Given the description of an element on the screen output the (x, y) to click on. 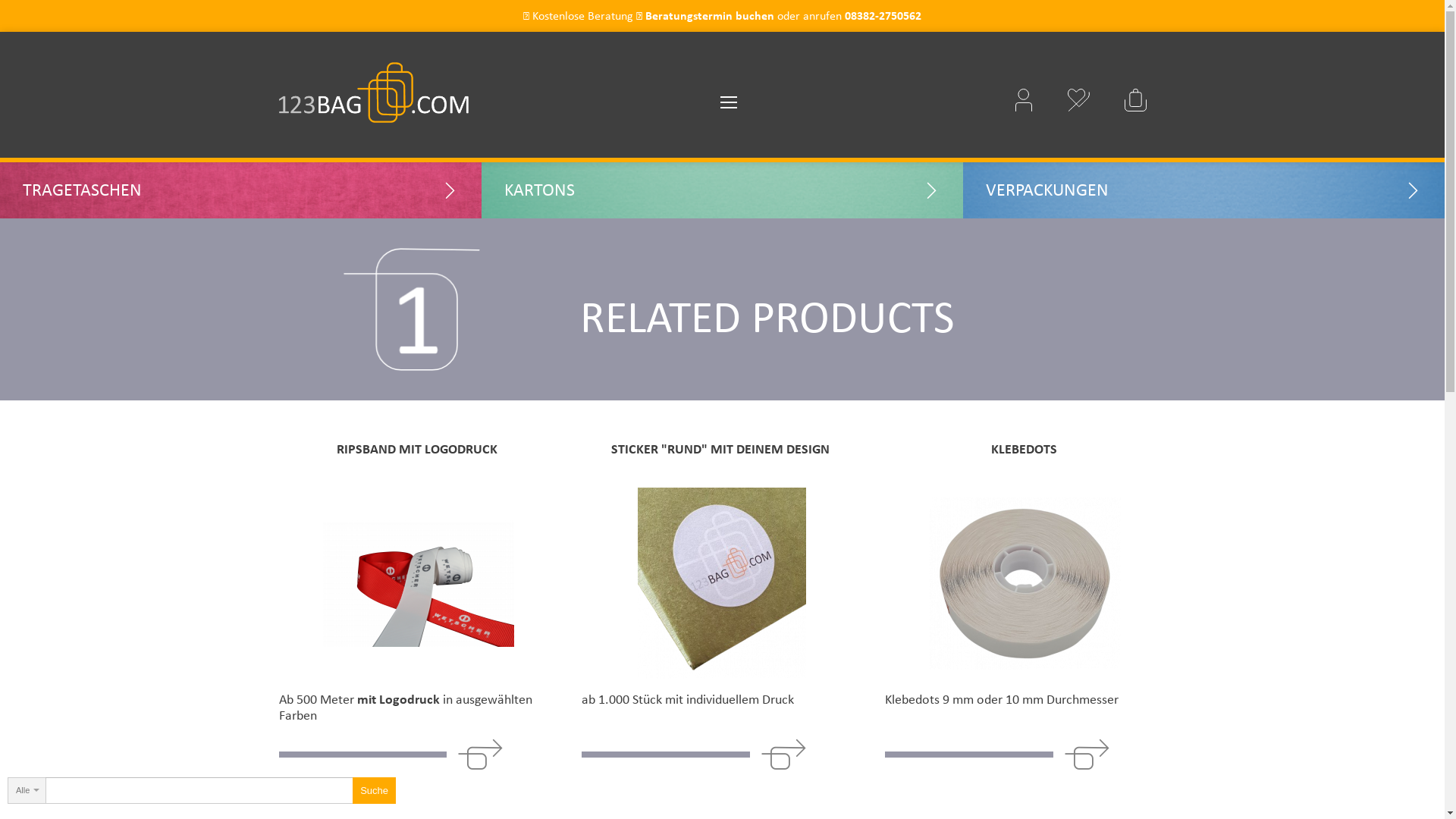
Klebedots Element type: hover (1024, 582)
Ripsband mit Logodruck Element type: hover (419, 582)
Mein Wunschzettel Element type: text (1078, 99)
123bag.com Element type: hover (373, 80)
RIPSBAND MIT LOGODRUCK Element type: text (417, 449)
KLEBEDOTS Element type: text (1023, 449)
Suche Element type: text (373, 790)
KARTONS Element type: text (722, 197)
VERPACKUNGEN Element type: text (1203, 197)
STICKER "RUND" MIT DEINEM DESIGN Element type: text (720, 449)
TRAGETASCHEN Element type: text (240, 197)
08382-2750562 Element type: text (882, 15)
Sticker "RUND" mit Deinem Design Element type: hover (721, 582)
